Given the description of an element on the screen output the (x, y) to click on. 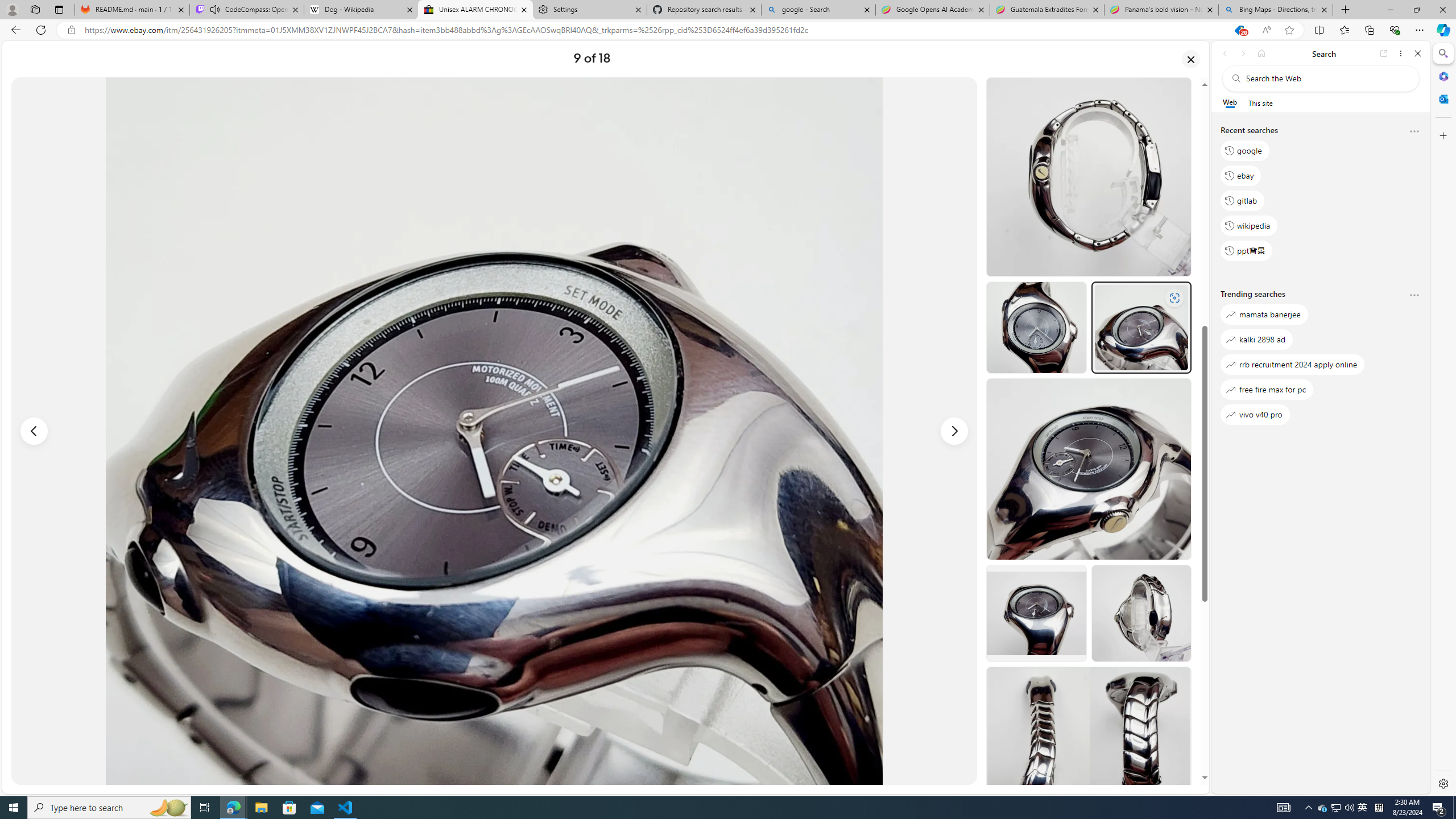
ebay (1240, 175)
